Given the description of an element on the screen output the (x, y) to click on. 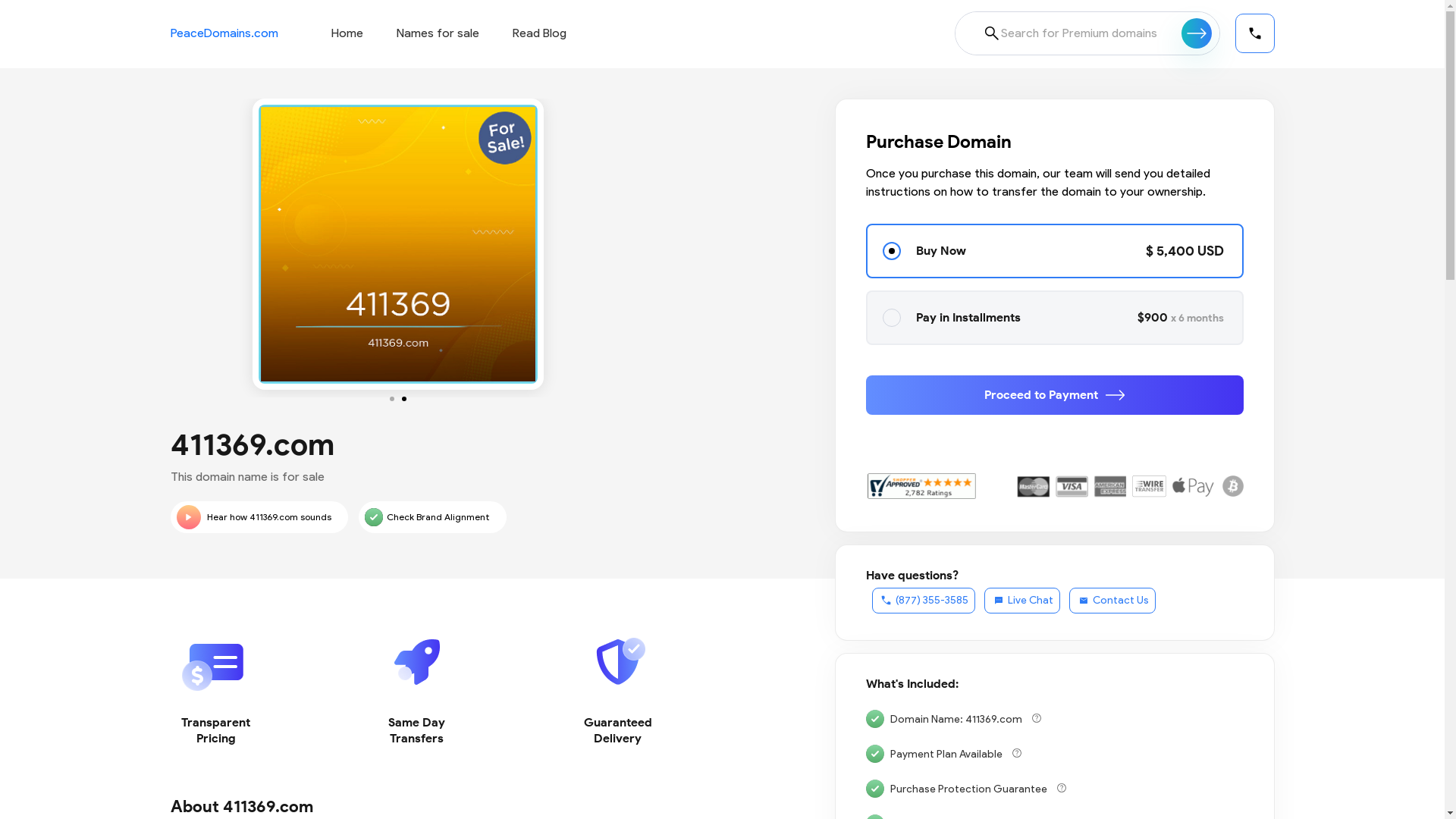
Check Brand Alignment Element type: text (431, 517)
Read Blog Element type: text (539, 33)
Home Element type: text (346, 33)
Names for sale Element type: text (436, 33)
Contact Us Element type: text (1112, 600)
Live Chat Element type: text (1022, 600)
PeaceDomains.com Element type: text (223, 33)
Hear how 411369.com sounds Element type: text (258, 517)
Buy Now
$ 5,400 USD Element type: text (1054, 250)
Proceed to Payment Element type: text (1054, 394)
(877) 355-3585 Element type: text (923, 600)
